Given the description of an element on the screen output the (x, y) to click on. 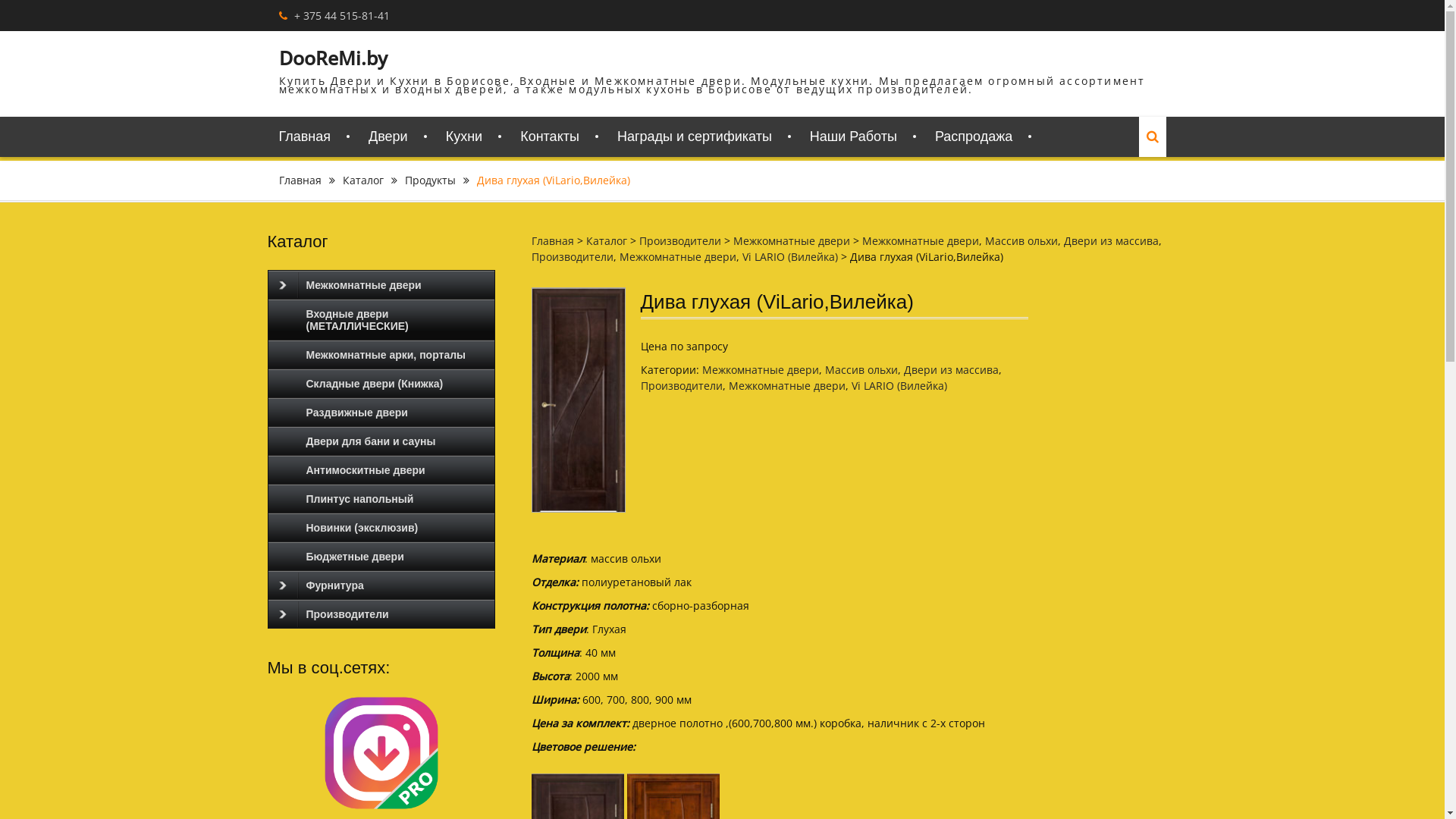
+ 375 44 515-81-41 Element type: text (341, 15)
DooReMi.by Element type: text (333, 57)
